Given the description of an element on the screen output the (x, y) to click on. 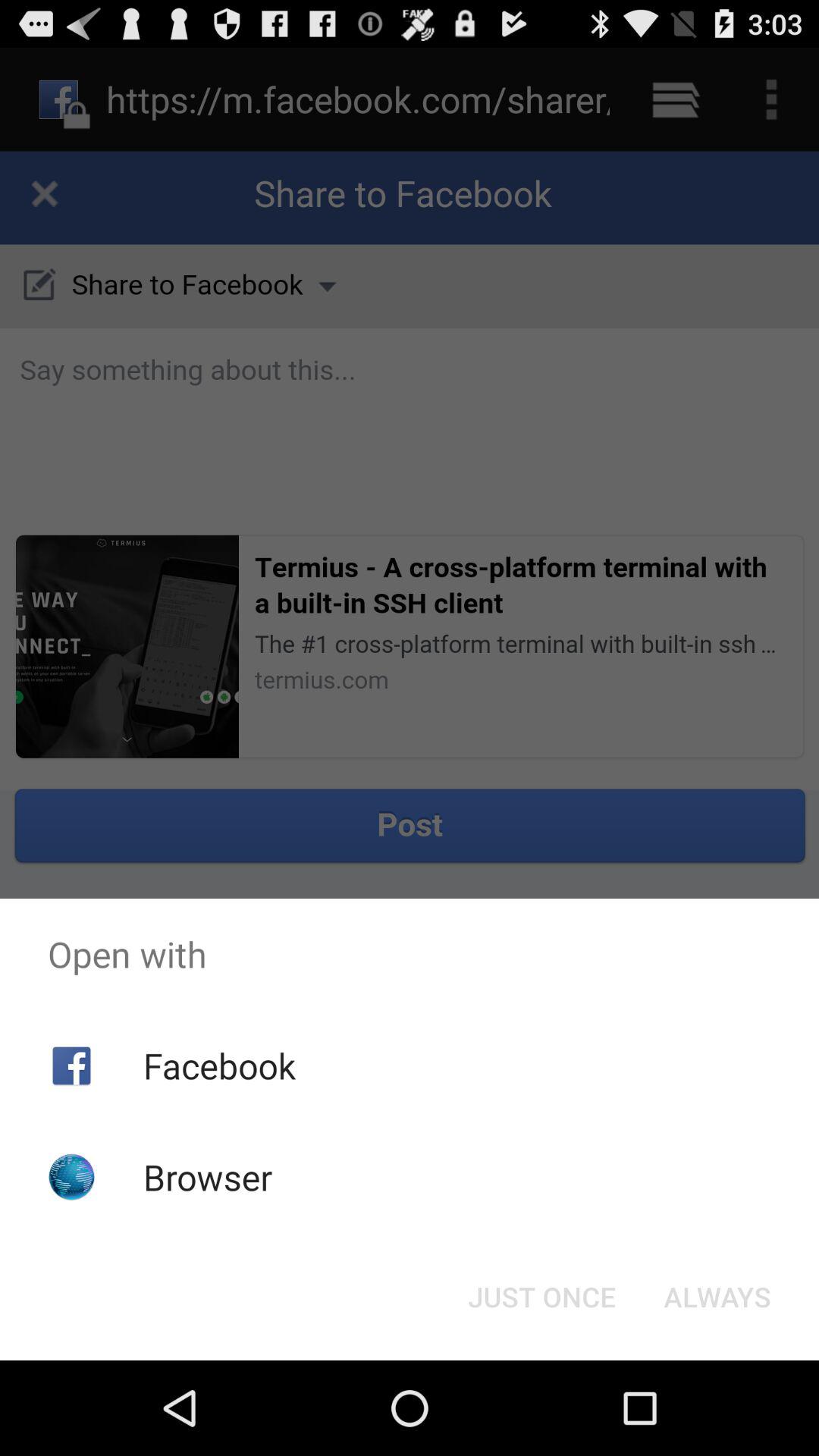
press the always (717, 1296)
